Given the description of an element on the screen output the (x, y) to click on. 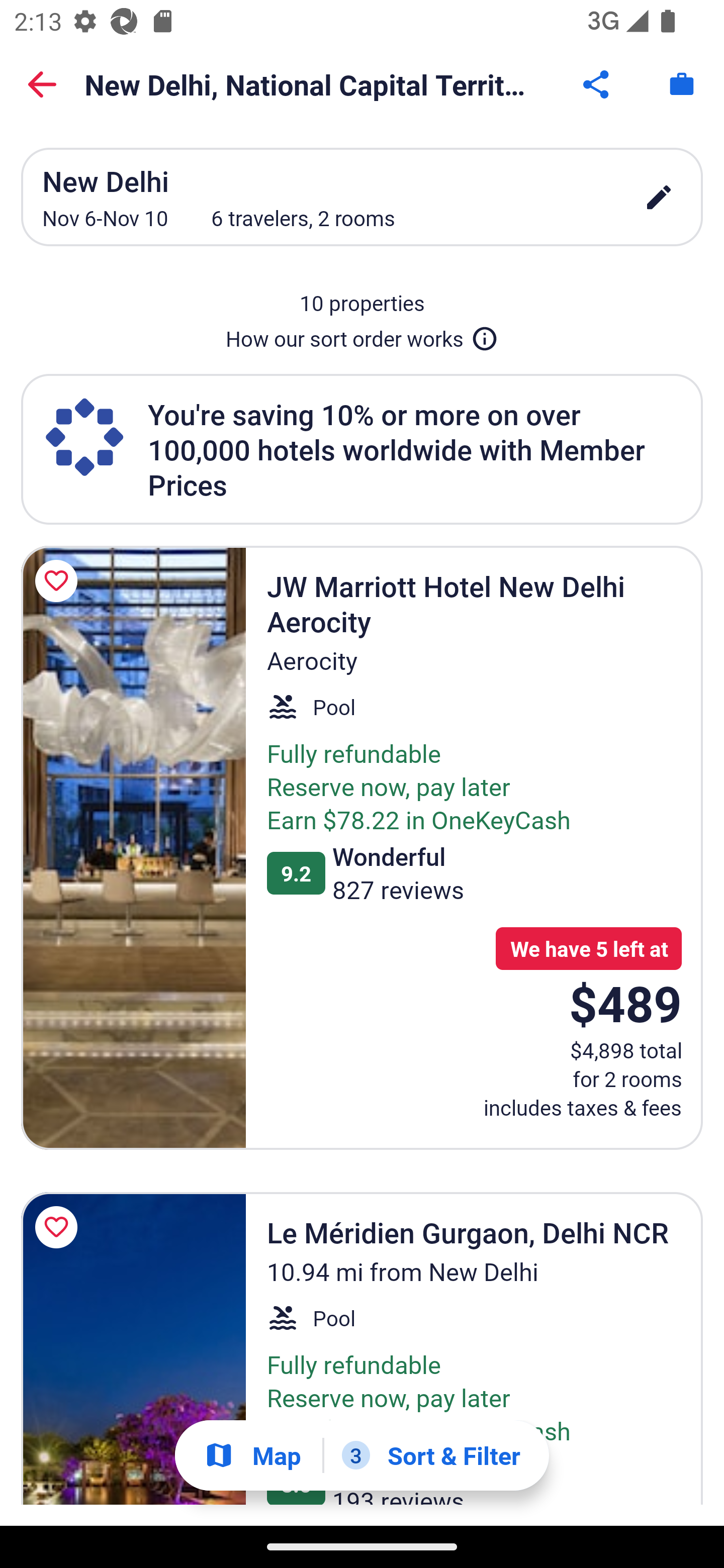
Back (42, 84)
Share Button (597, 84)
Trips. Button (681, 84)
New Delhi Nov 6-Nov 10 6 travelers, 2 rooms edit (361, 196)
How our sort order works (361, 334)
JW Marriott Hotel New Delhi Aerocity (133, 847)
Save Le Méridien Gurgaon, Delhi NCR to a trip (59, 1227)
Le Méridien Gurgaon, Delhi NCR (133, 1348)
3 Sort & Filter 3 Filters applied. Filters Button (430, 1455)
Show map Map Show map Button (252, 1455)
